Given the description of an element on the screen output the (x, y) to click on. 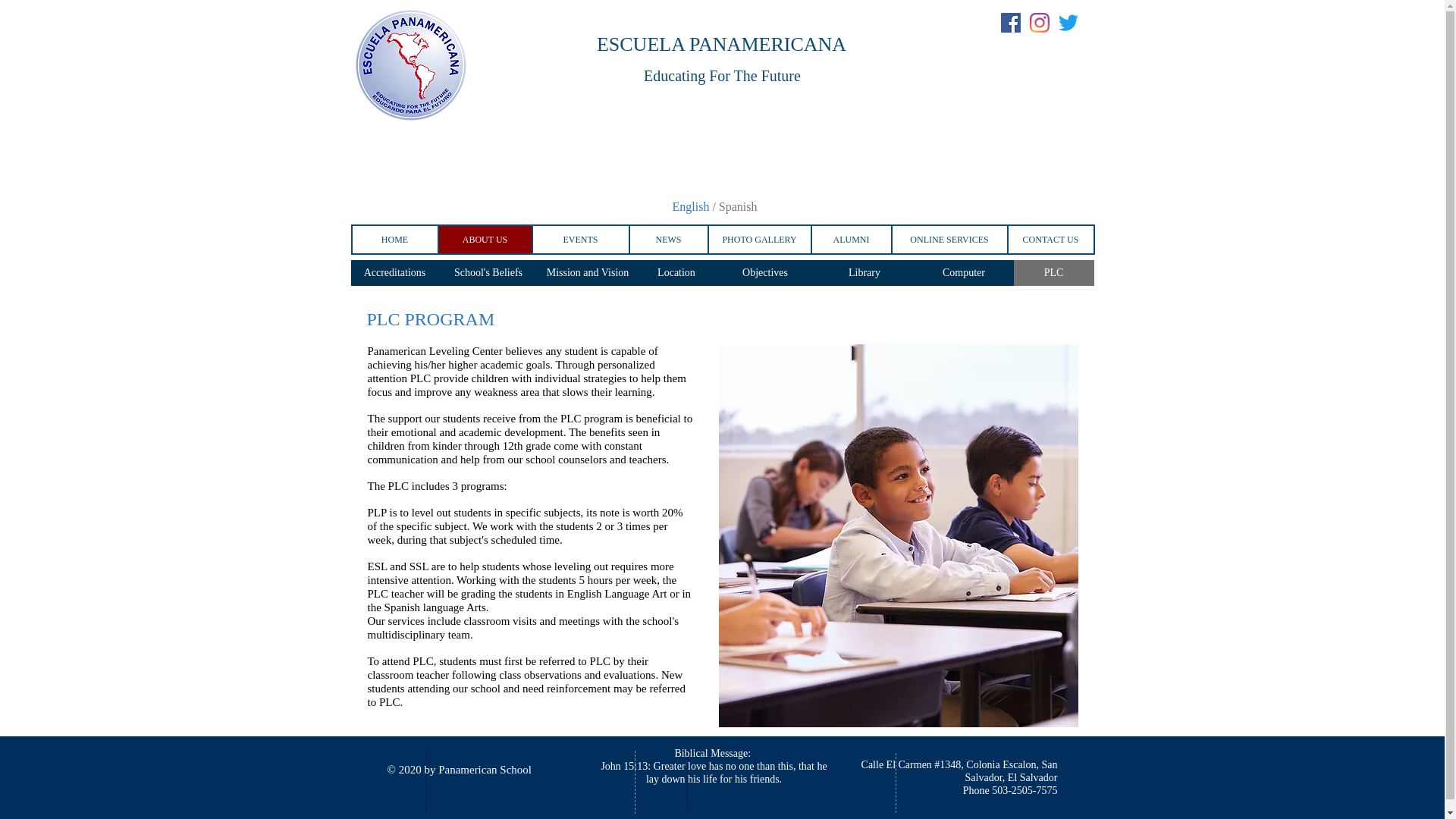
PHOTO GALLERY (758, 239)
English (691, 205)
ESCUELA PANAMERICANA (720, 44)
EVENTS (579, 239)
Location (675, 272)
ALUMNI (850, 239)
NEWS (667, 239)
ONLINE SERVICES (948, 239)
PLC (1053, 272)
HOME (394, 239)
